Given the description of an element on the screen output the (x, y) to click on. 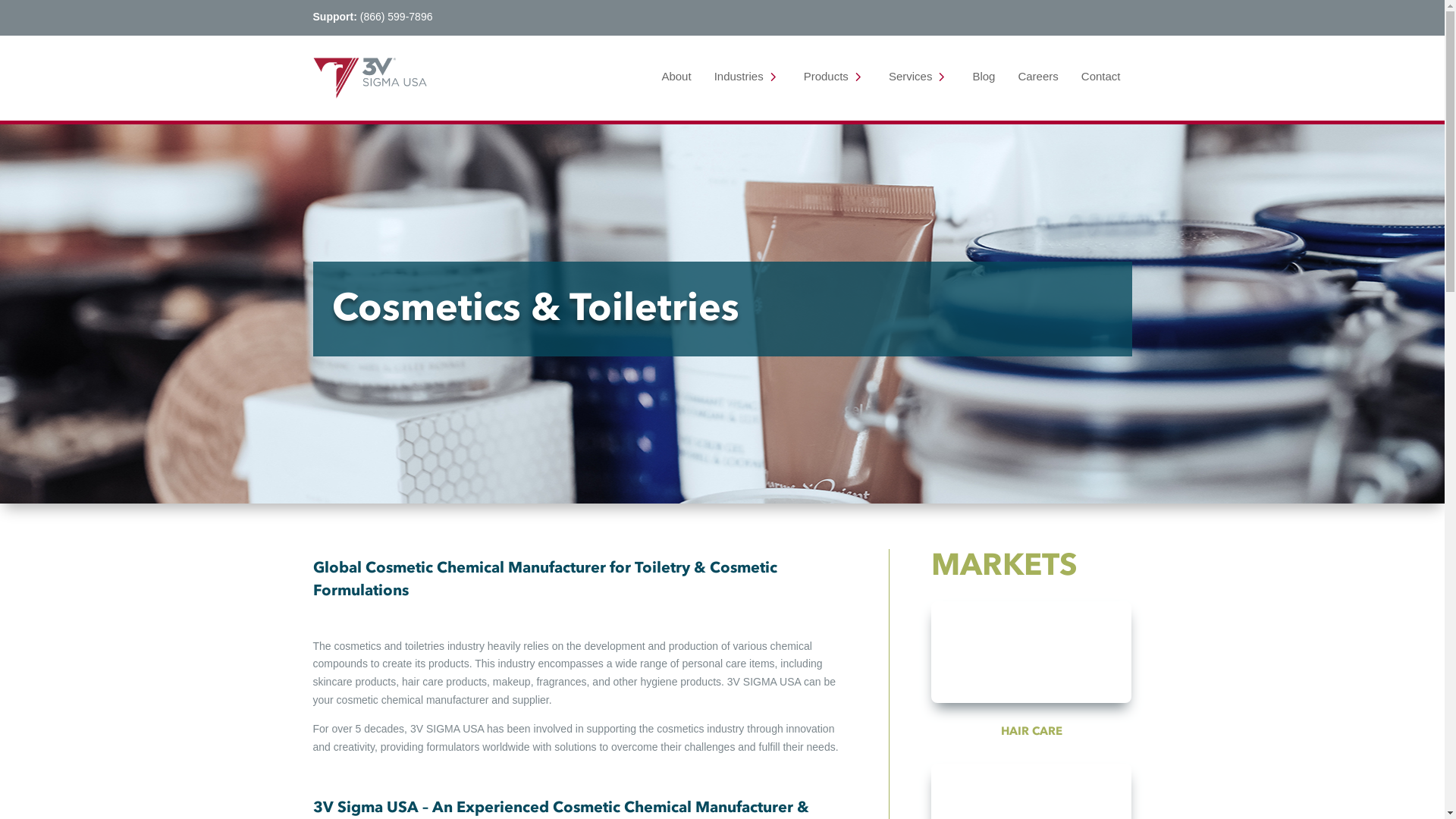
5
Industries Element type: text (747, 76)
About Element type: text (675, 76)
5
Products Element type: text (834, 76)
HAIR CARE Element type: text (1031, 730)
Blog Element type: text (983, 76)
5
Services Element type: text (919, 76)
(866) 599-7896 Element type: text (396, 16)
Contact Element type: text (1101, 76)
Careers Element type: text (1037, 76)
